Given the description of an element on the screen output the (x, y) to click on. 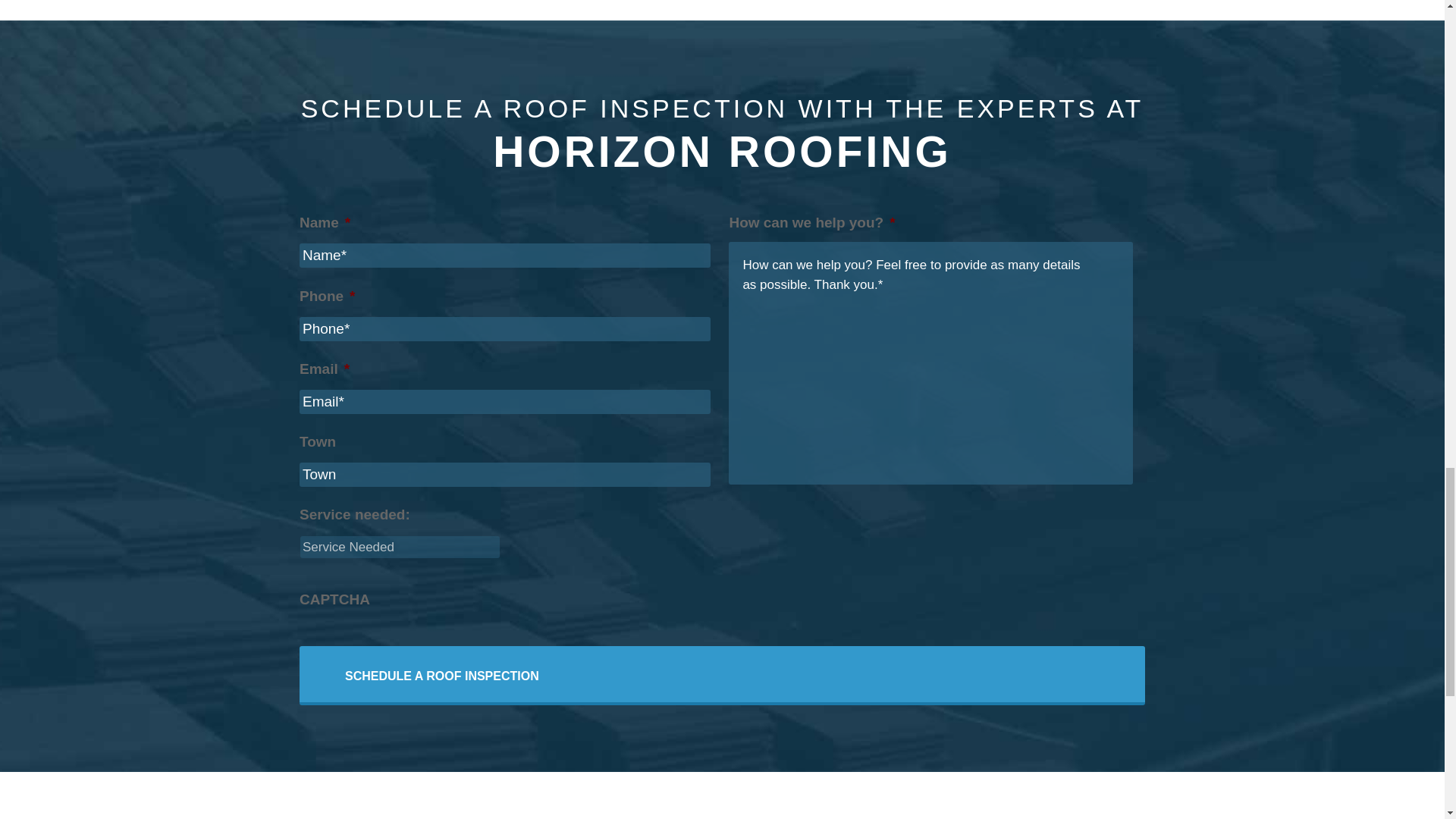
schedule a roof inspection (442, 676)
schedule a roof inspection (442, 676)
